Given the description of an element on the screen output the (x, y) to click on. 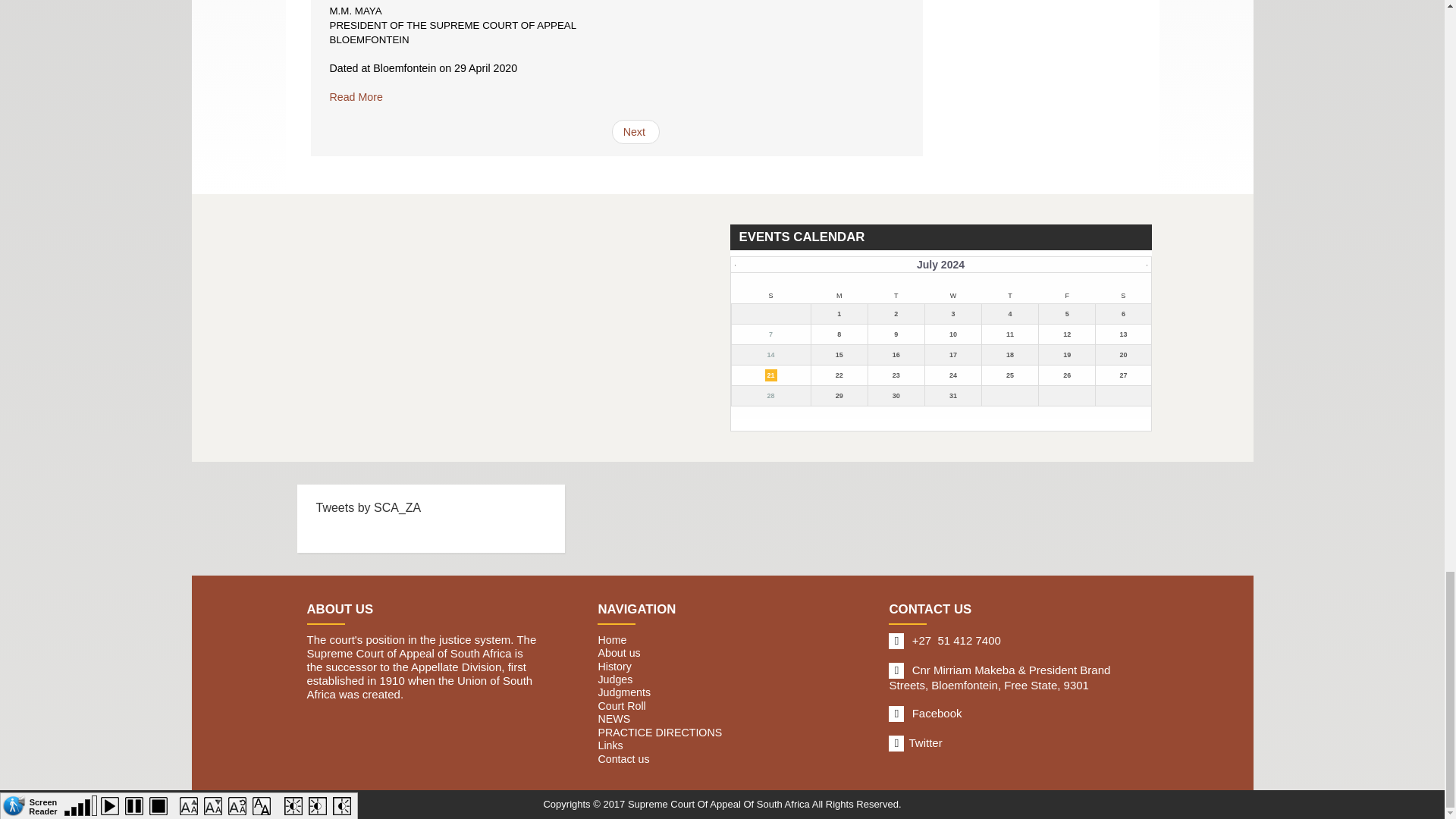
Read More (355, 96)
Go to calendar - current day (952, 334)
Go to calendar - current day (1009, 334)
Go to calendar - current day (1122, 334)
Go to calendar - current day (1066, 334)
2 (635, 131)
Go to calendar - current day (839, 354)
Go to calendar - current day (770, 354)
Next (635, 131)
